Given the description of an element on the screen output the (x, y) to click on. 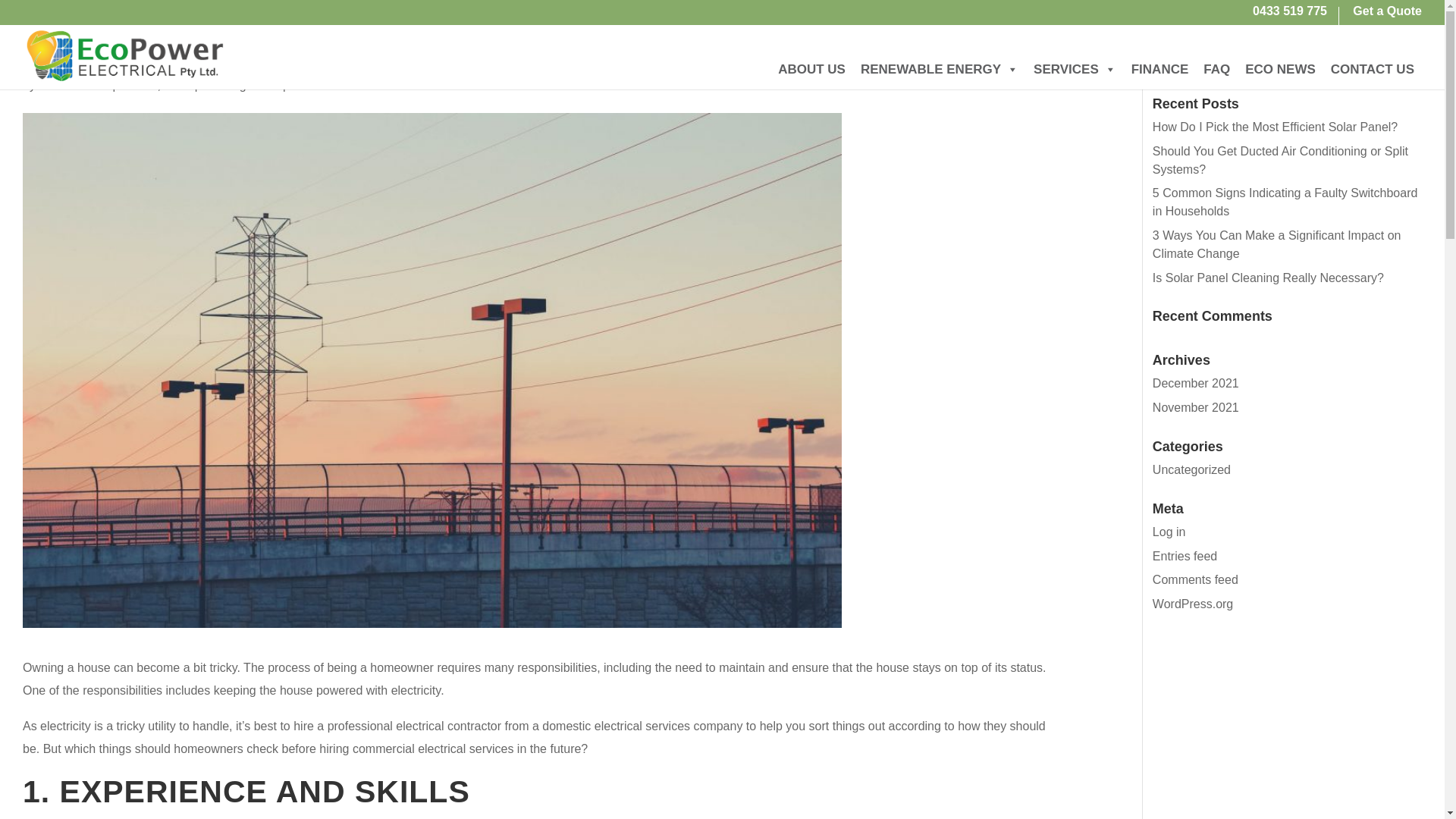
Uncategorized (239, 84)
Denise Miller (73, 84)
0433 519 775 (1289, 15)
ECO NEWS (1280, 69)
Posts by Denise Miller (73, 84)
5 Common Signs Indicating a Faulty Switchboard in Households (1285, 201)
Search (1395, 59)
SERVICES (1075, 69)
FAQ (1216, 69)
How Do I Pick the Most Efficient Solar Panel? (1275, 126)
ABOUT US (811, 69)
CONTACT US (1372, 69)
RENEWABLE ENERGY (939, 69)
Should You Get Ducted Air Conditioning or Split Systems? (1280, 160)
Get a Quote (1387, 15)
